Given the description of an element on the screen output the (x, y) to click on. 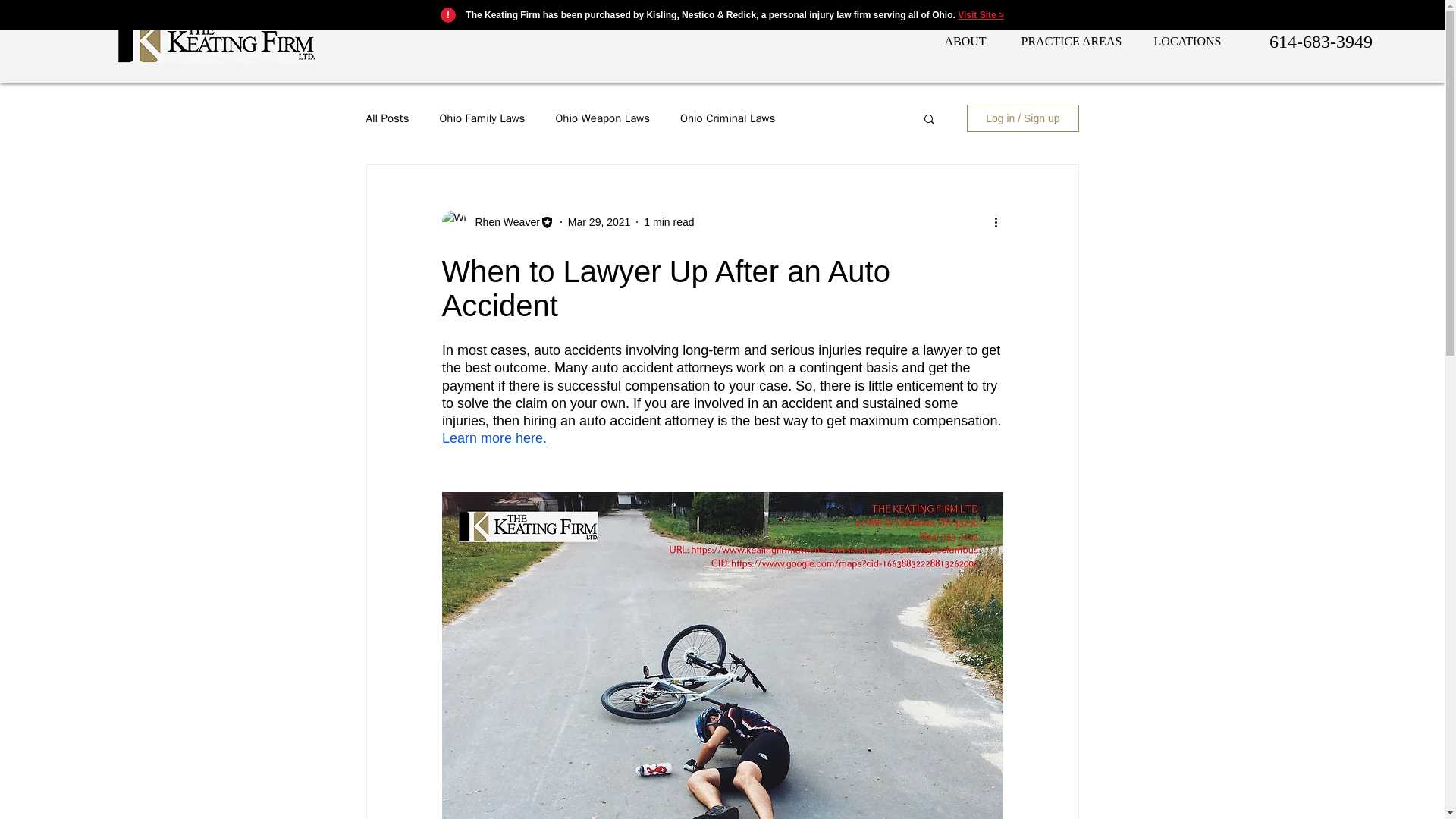
614-683-3949 (1320, 41)
LOCATIONS (1188, 41)
Ohio Criminal Laws (726, 117)
Ohio Weapon Laws (601, 117)
Ohio Family Laws (481, 117)
All Posts (387, 117)
Rhen Weaver (501, 221)
Learn more here. (493, 437)
1 min read (668, 221)
ABOUT (962, 41)
